Given the description of an element on the screen output the (x, y) to click on. 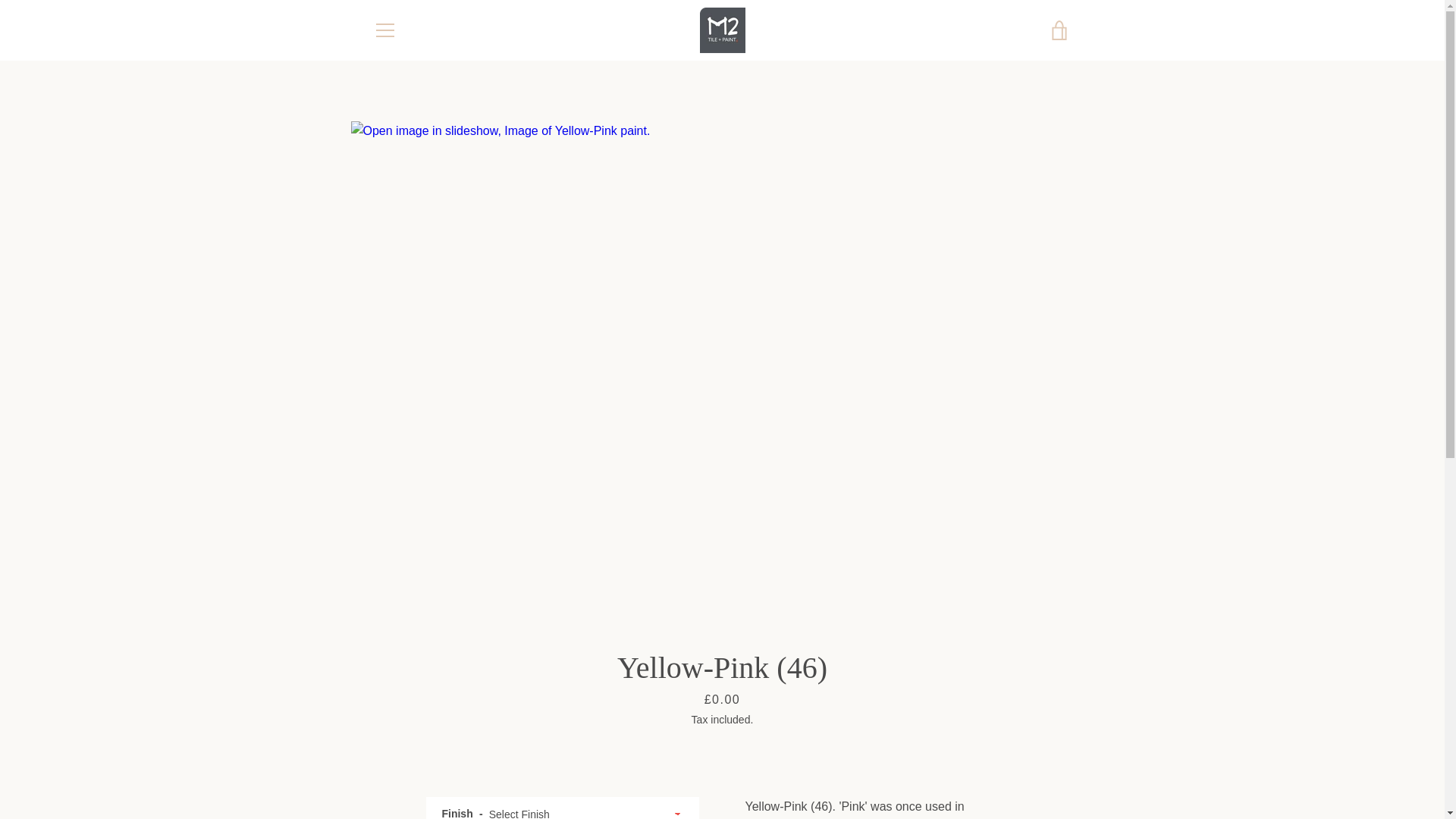
Shop Pay (988, 778)
Apple Pay (918, 755)
Diners Club (953, 755)
Mastercard (918, 778)
Google Pay (1022, 755)
PayPal (953, 778)
American Express (883, 755)
Union Pay (1022, 778)
Maestro (1057, 755)
VIEW CART (1059, 30)
Visa (1057, 778)
Discover (988, 755)
MENU (384, 30)
